Given the description of an element on the screen output the (x, y) to click on. 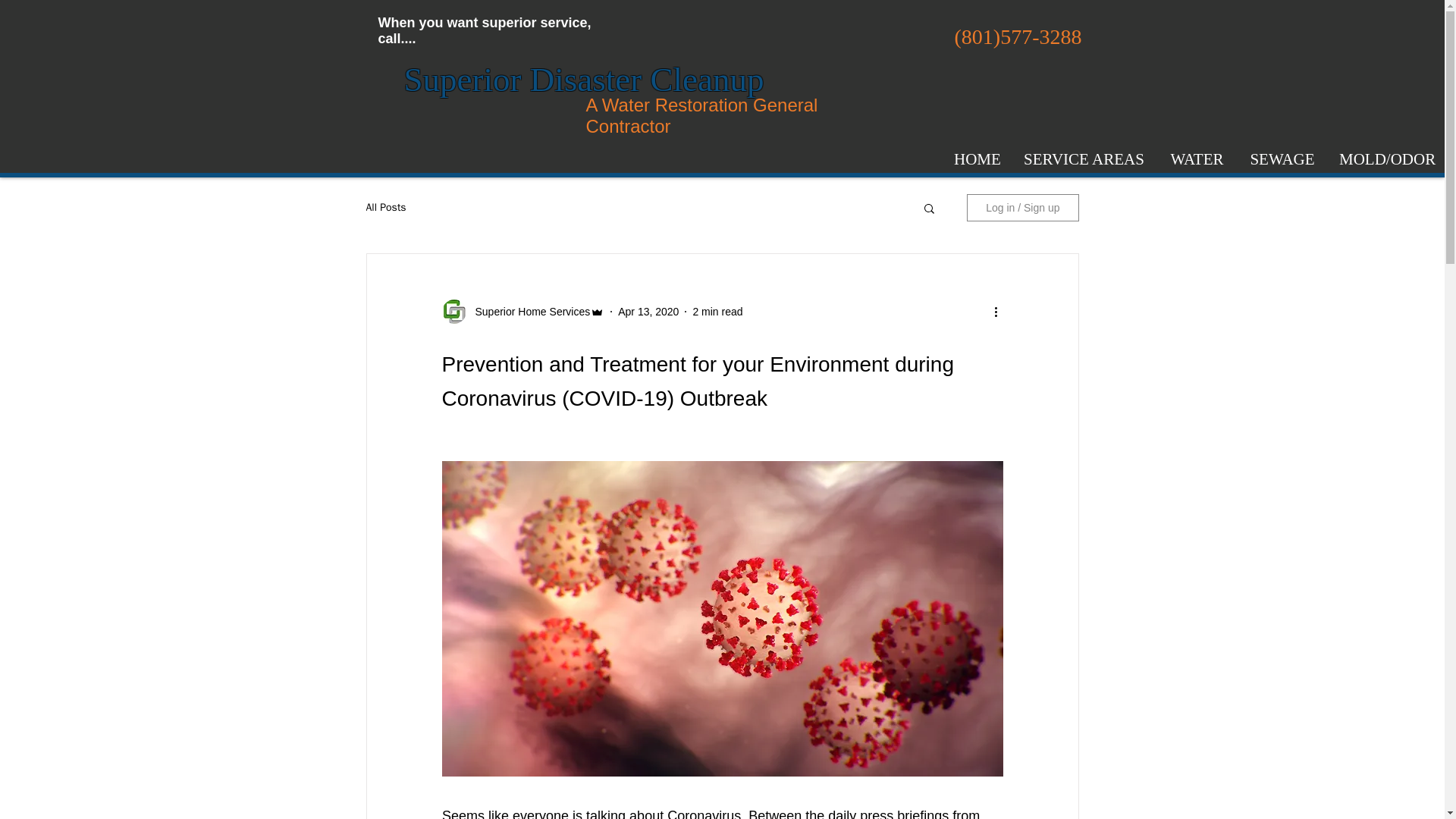
HOME (976, 158)
All Posts (385, 207)
Superior Home Services (527, 311)
WATER (1196, 158)
Apr 13, 2020 (647, 310)
SEWAGE (1281, 158)
SERVICE AREAS (1083, 158)
2 min read (717, 310)
